Given the description of an element on the screen output the (x, y) to click on. 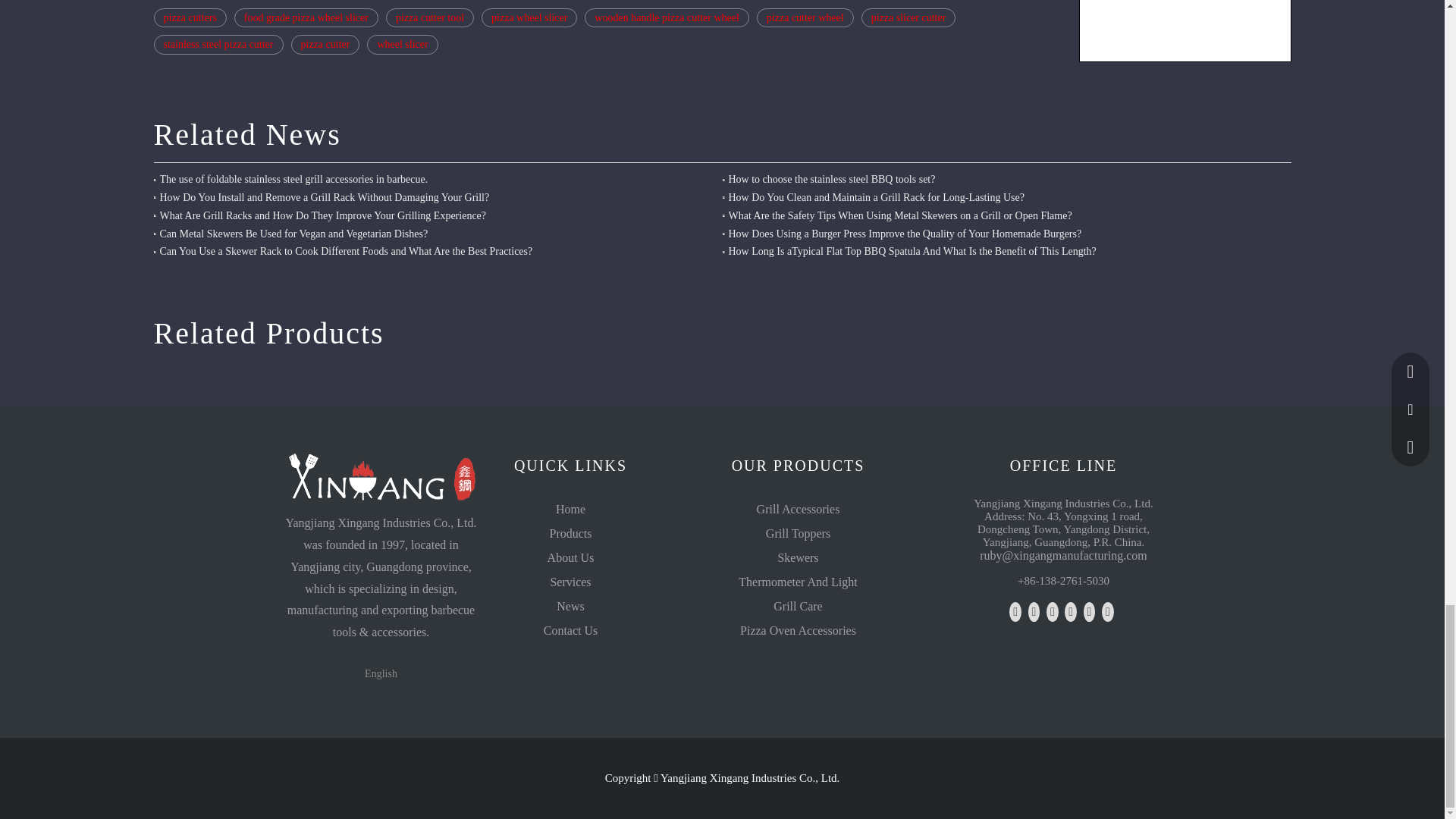
food grade pizza wheel slicer (306, 17)
pizza cutters (188, 17)
wooden handle pizza cutter wheel (666, 17)
wheel slicer (402, 44)
pizza cutter tool (429, 17)
wooden handle pizza cutter wheel (666, 17)
pizza cutter tool (429, 17)
pizza cutter wheel (805, 17)
pizza cutters (188, 17)
pizza slicer cutter (908, 17)
stainless steel pizza cutter (217, 44)
pizza cutter (325, 44)
food grade pizza wheel slicer (306, 17)
pizza wheel slicer (528, 17)
